Given the description of an element on the screen output the (x, y) to click on. 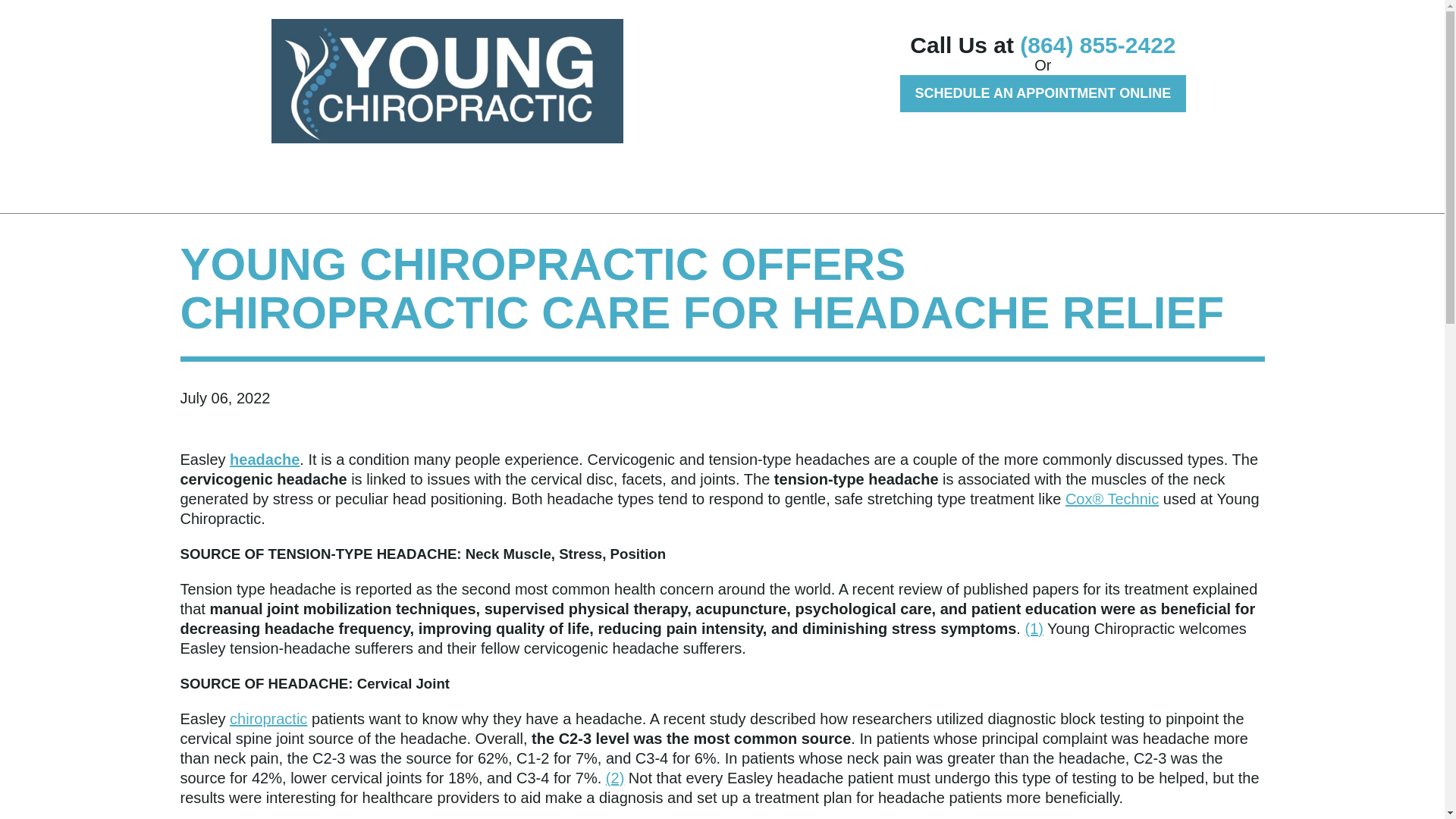
ID YOUR PAIN (216, 176)
SCHEDULE AN APPOINTMENT ONLINE (1042, 93)
Young Chiropractic Home (446, 80)
GET RELIEF (330, 176)
